Given the description of an element on the screen output the (x, y) to click on. 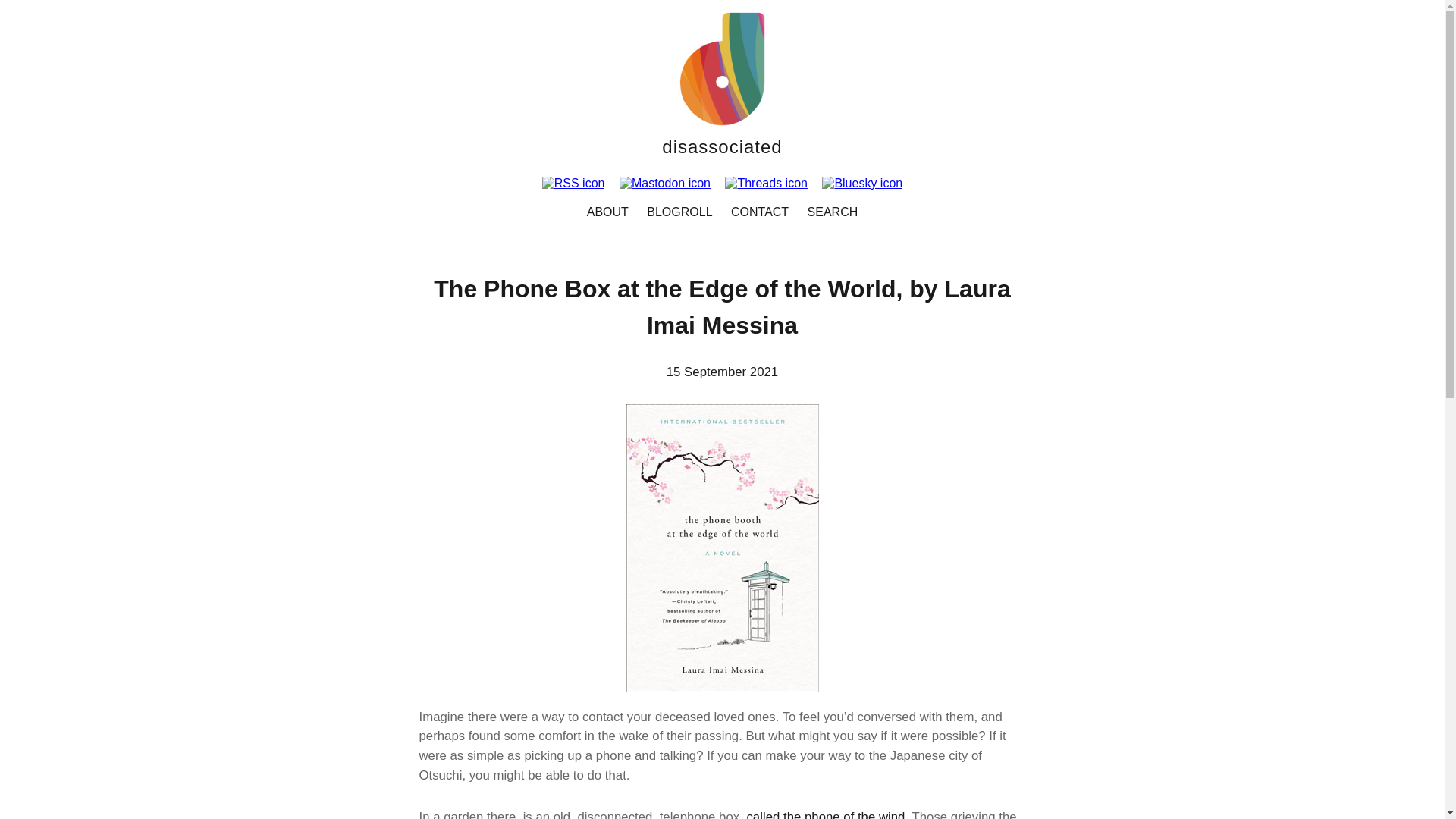
disassociated RSS feed (578, 182)
SEARCH (832, 211)
BLOGROLL (679, 211)
CONTACT (759, 211)
disassociated (721, 146)
disassociated Bluesky page (862, 182)
called the phone of the wind (824, 814)
disassociated Mastodon page (671, 182)
ABOUT (607, 211)
disassociated Threads page (771, 182)
